Given the description of an element on the screen output the (x, y) to click on. 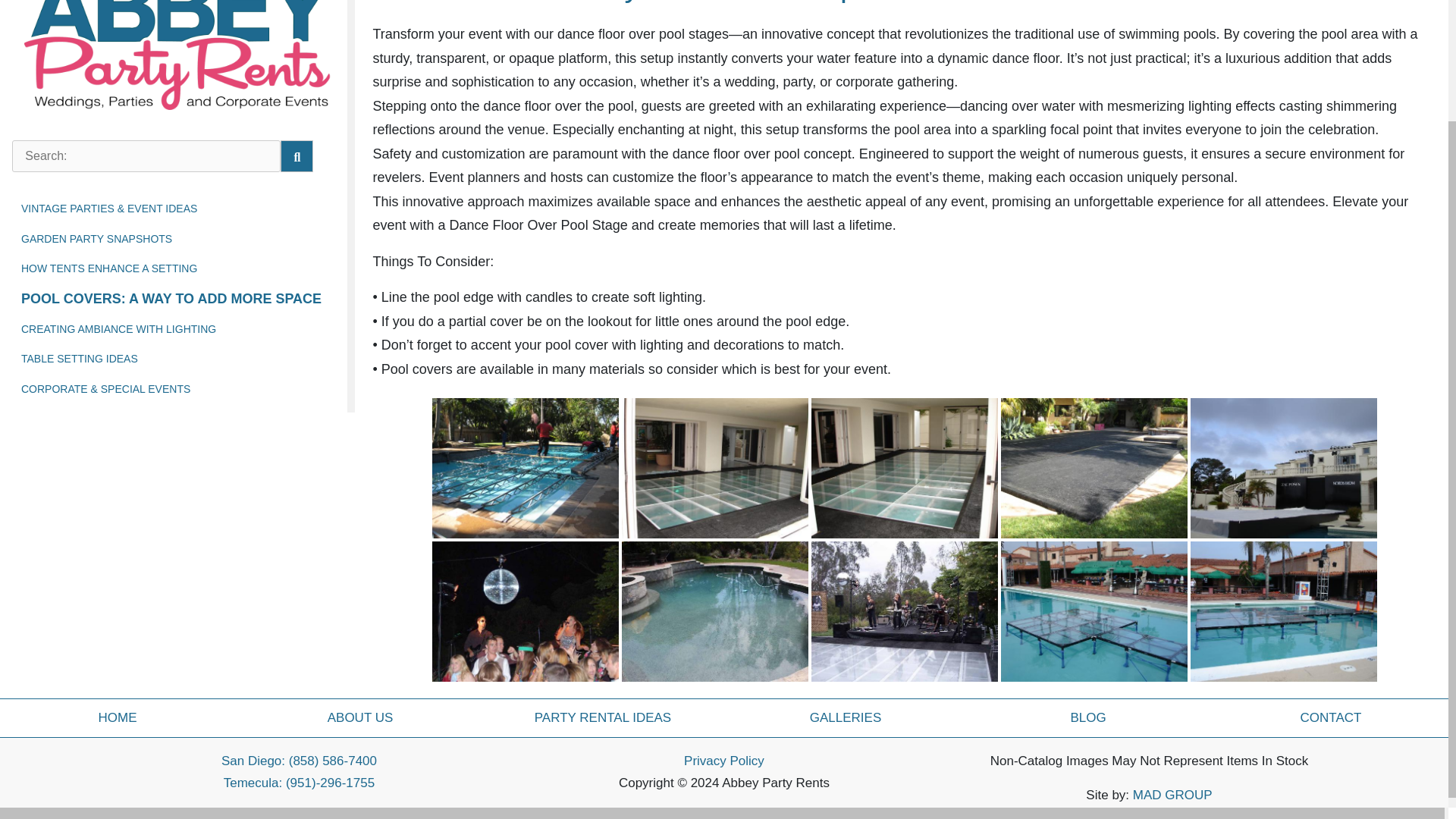
Reliable. Responsive. Respectful. (179, 23)
